Given the description of an element on the screen output the (x, y) to click on. 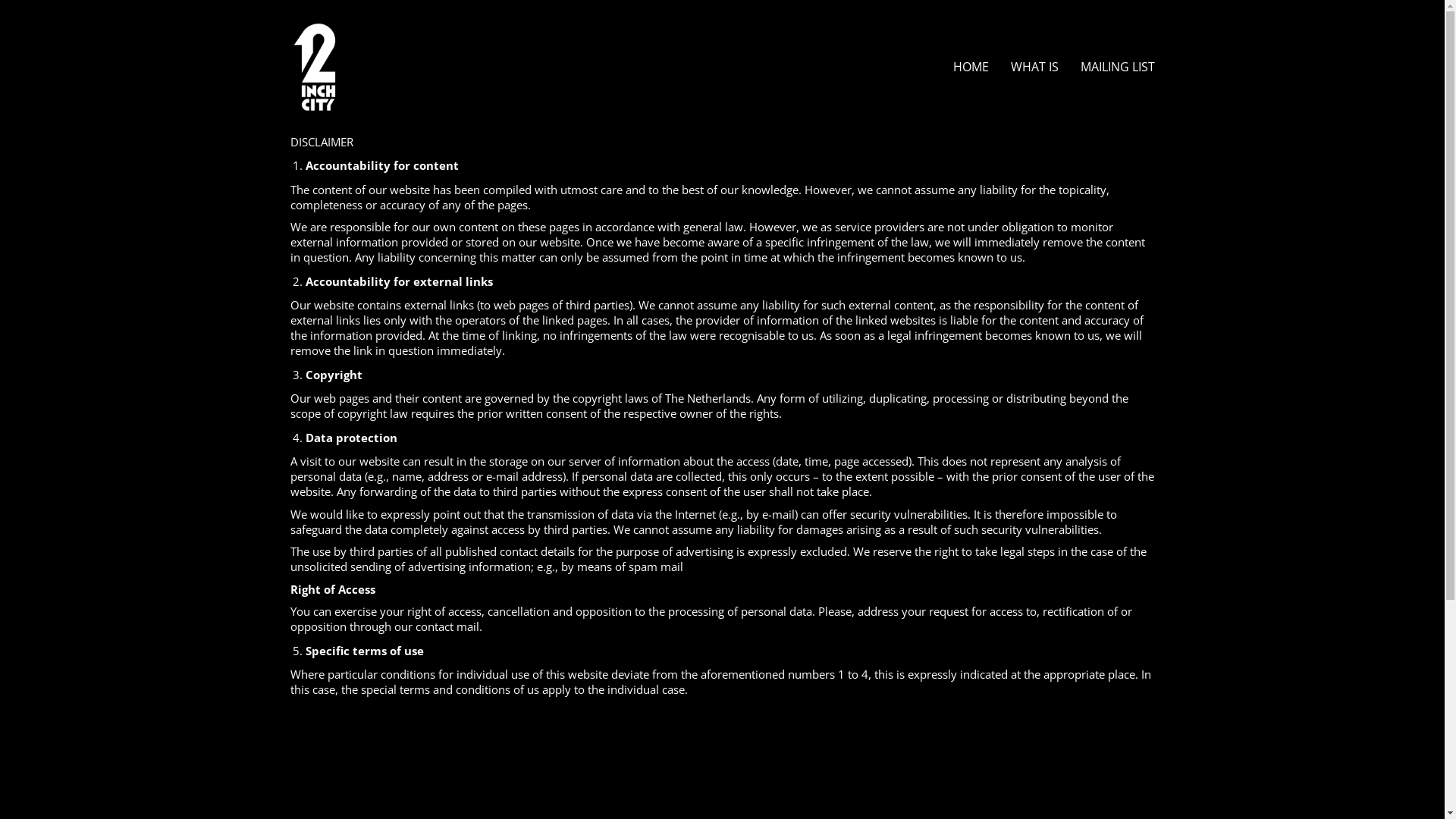
MAILING LIST Element type: text (1116, 67)
HOME Element type: text (970, 67)
IMPRINT Element type: text (313, 676)
WHAT IS Element type: text (1033, 67)
terms and conditions Element type: text (867, 663)
Subscribe Element type: text (774, 701)
Facebook Element type: text (1057, 780)
Instagram Element type: text (1128, 780)
DATA PRIVACY Element type: text (330, 693)
